Given the description of an element on the screen output the (x, y) to click on. 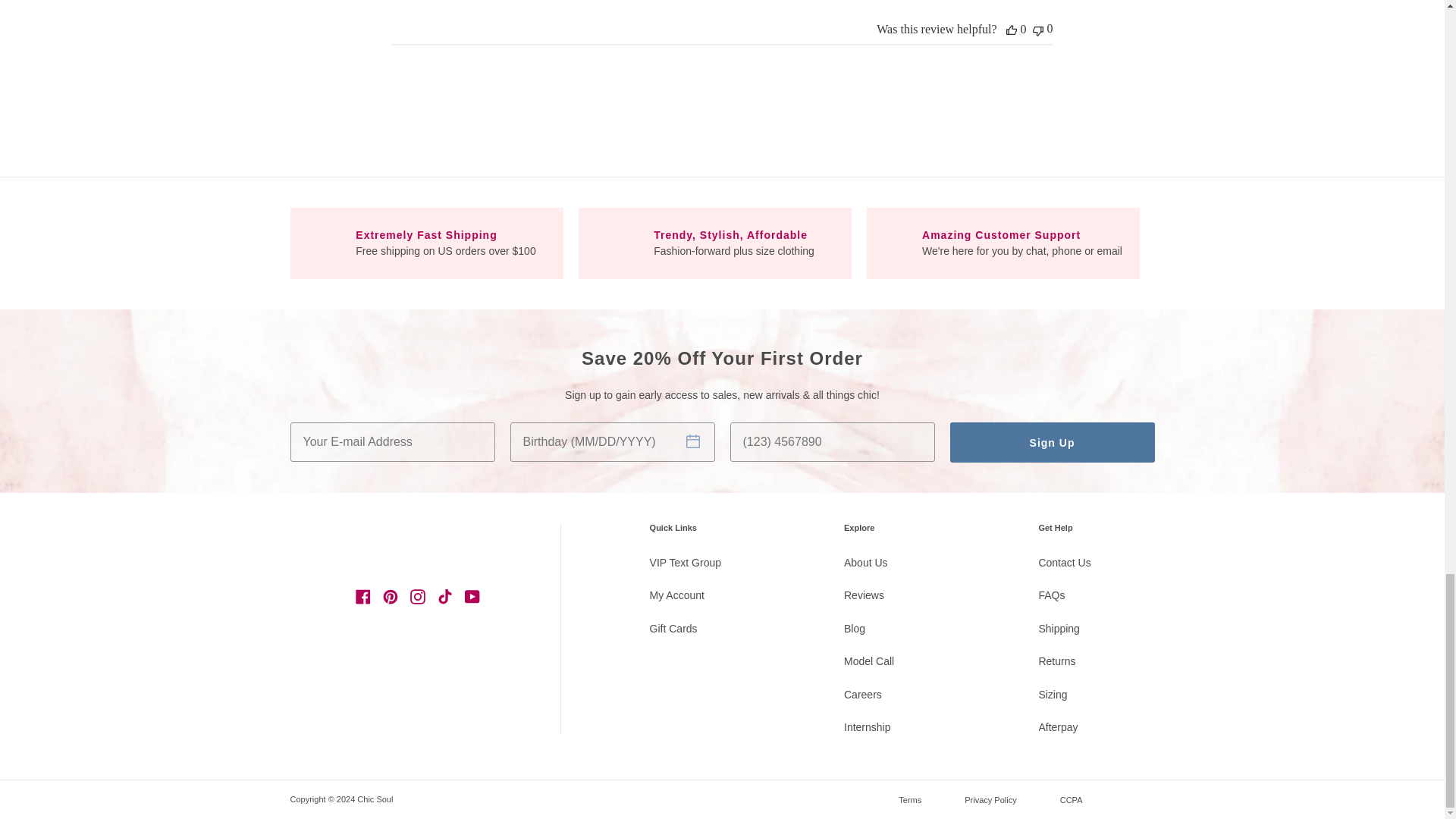
Sign Up (1051, 442)
